Given the description of an element on the screen output the (x, y) to click on. 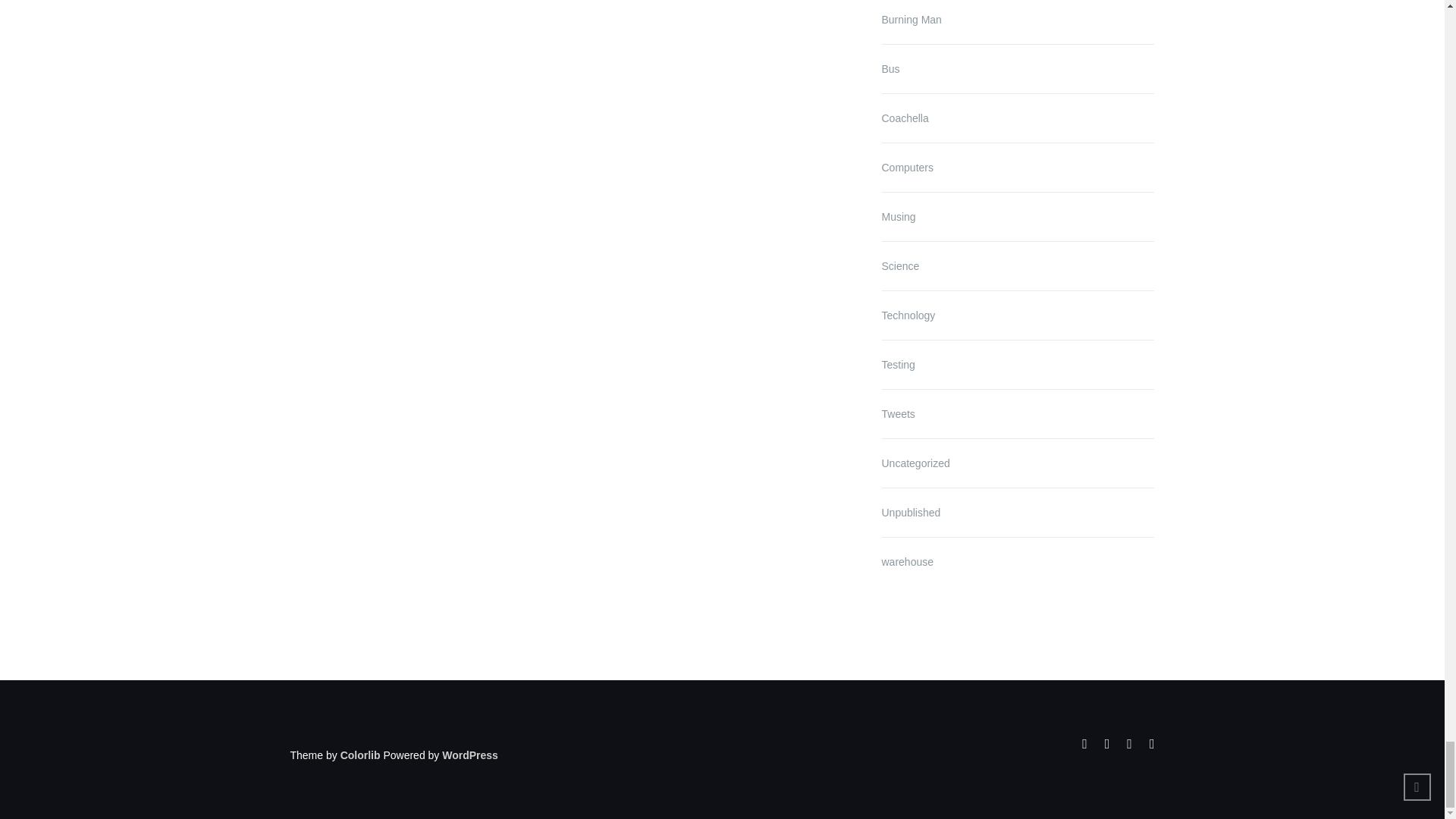
WordPress.org (469, 755)
Colorlib (360, 755)
